Given the description of an element on the screen output the (x, y) to click on. 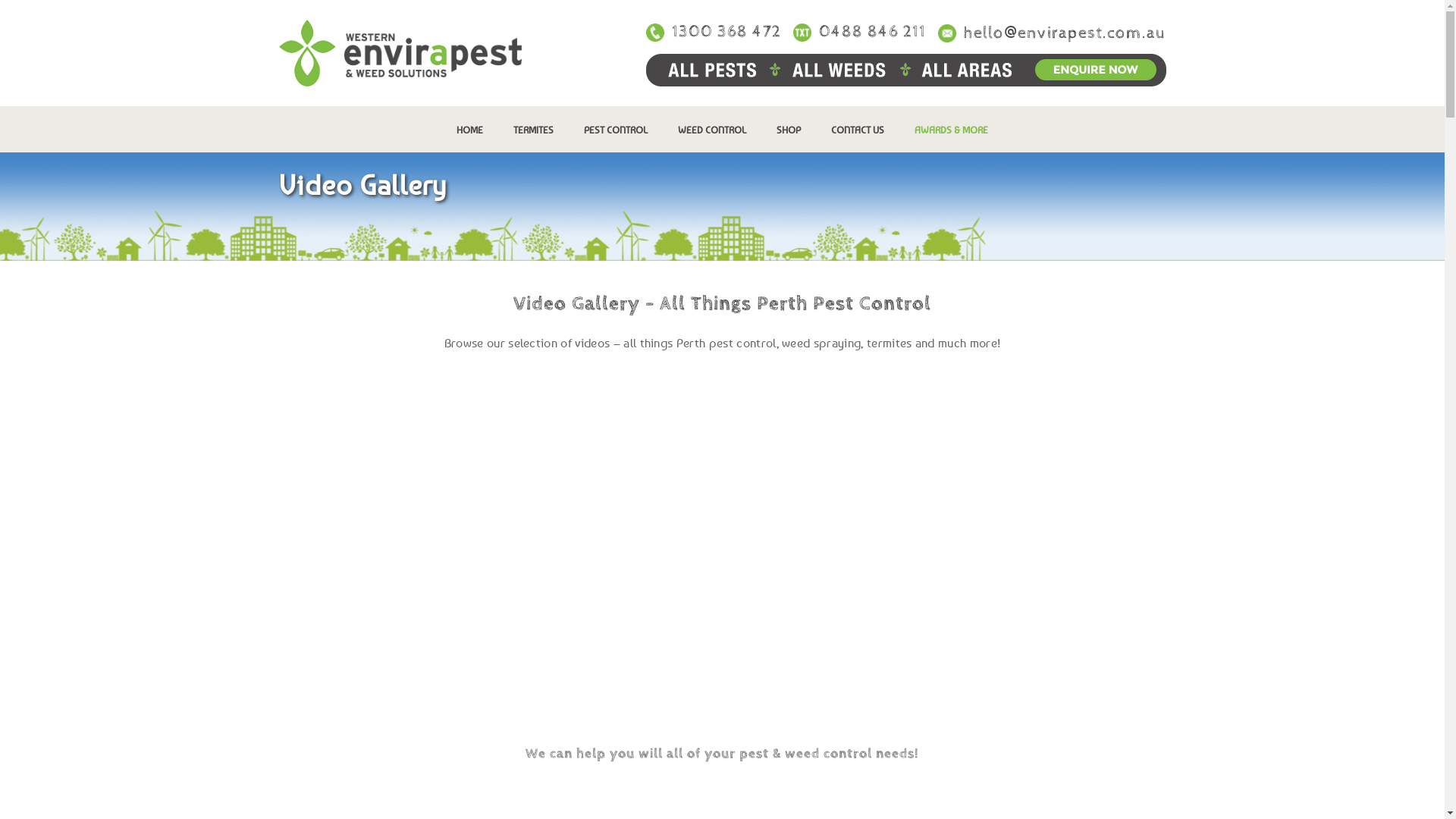
TERMITES Element type: text (533, 129)
CONTACT US Element type: text (857, 129)
PEST CONTROL Element type: text (615, 129)
AWARDS & MORE Element type: text (951, 129)
hello@envirapest.com.au Element type: text (1064, 33)
SHOP Element type: text (788, 129)
WEED CONTROL Element type: text (711, 129)
HOME Element type: text (469, 129)
